Given the description of an element on the screen output the (x, y) to click on. 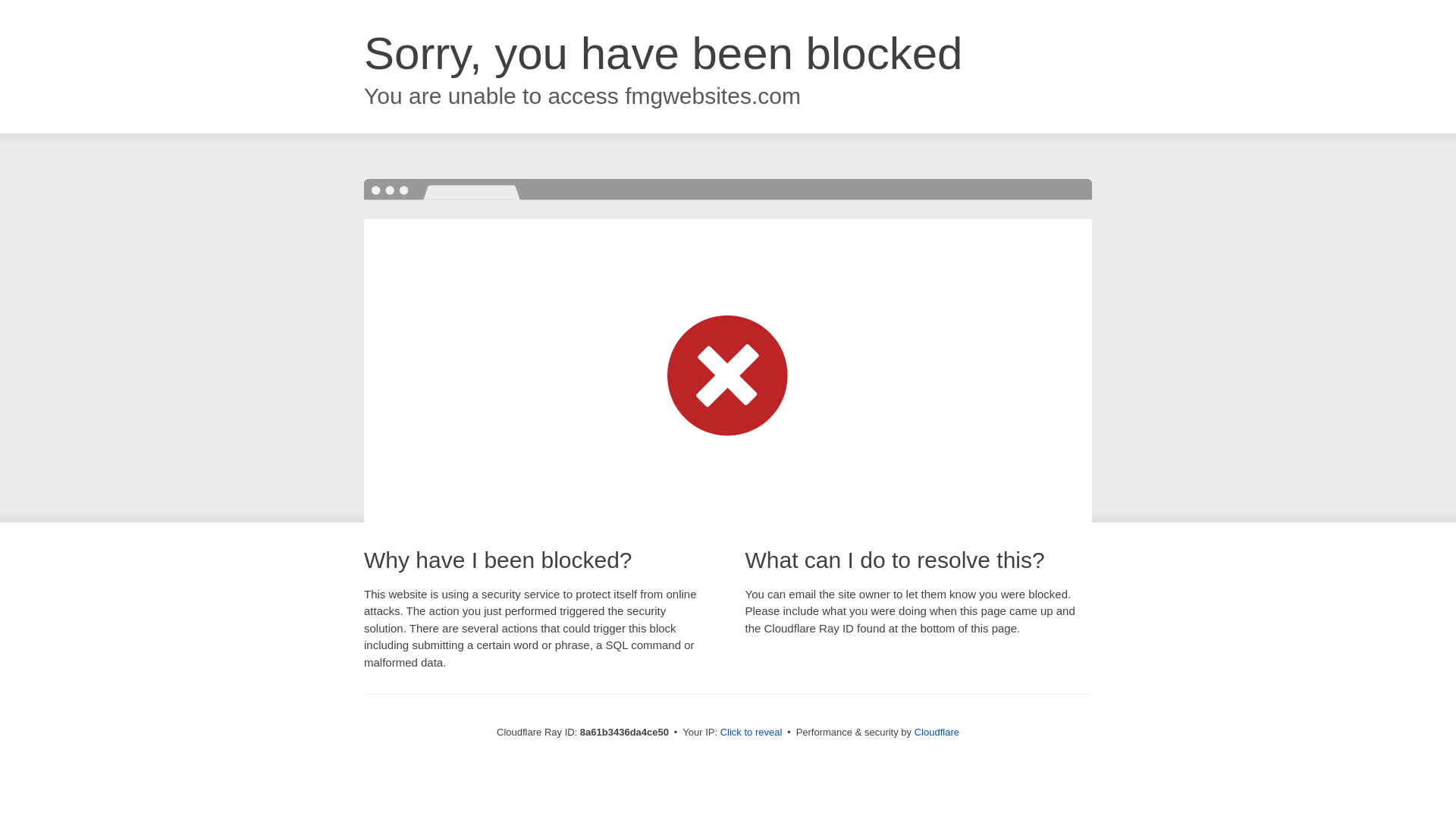
Cloudflare (936, 731)
Click to reveal (751, 732)
